Given the description of an element on the screen output the (x, y) to click on. 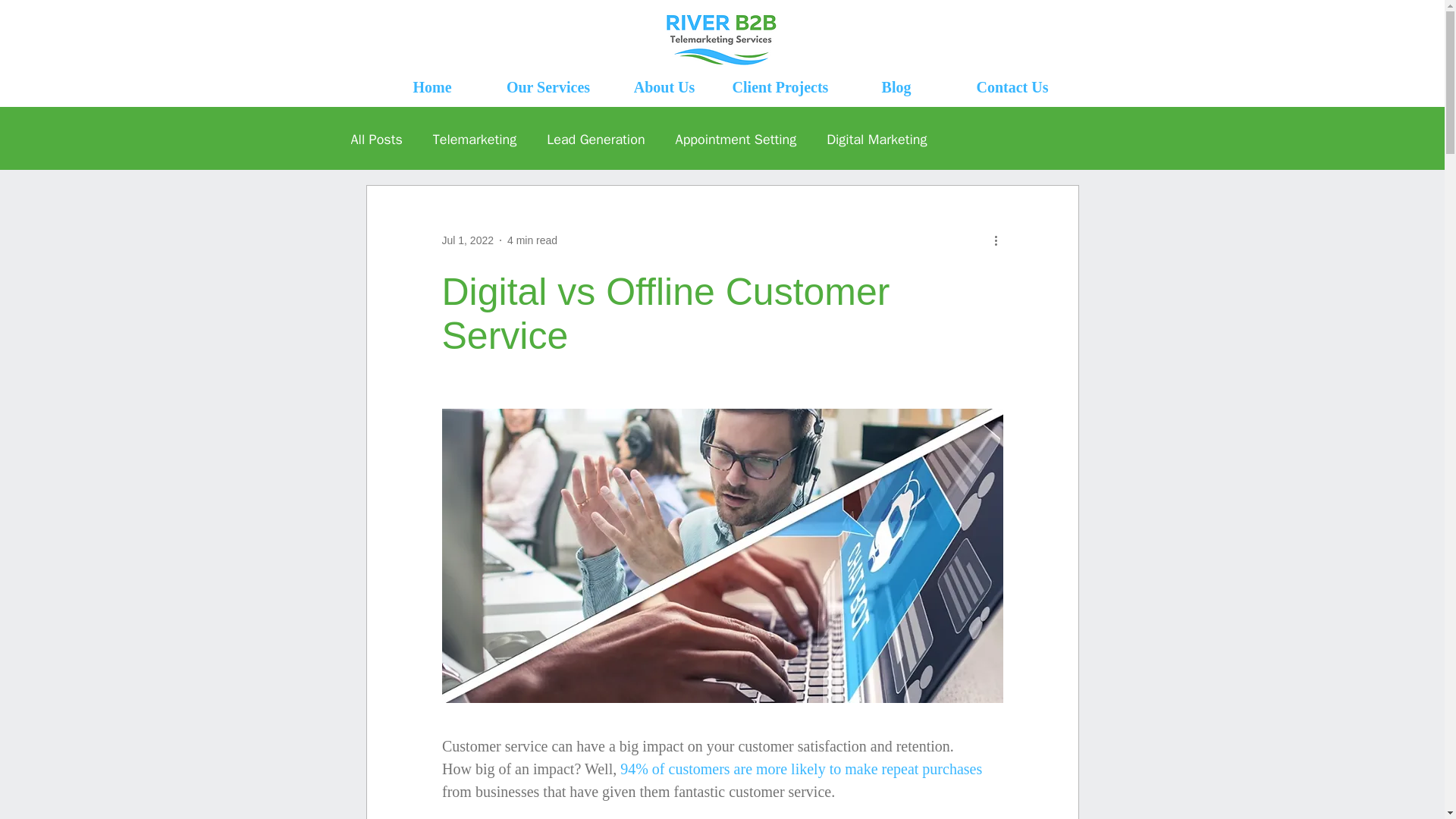
All Posts (375, 139)
4 min read (531, 239)
Jul 1, 2022 (467, 239)
Lead Generation (596, 139)
Client Projects (780, 86)
Our Services (547, 86)
Home (432, 86)
Blog (896, 86)
Appointment Setting (735, 139)
Digital Marketing (876, 139)
